Given the description of an element on the screen output the (x, y) to click on. 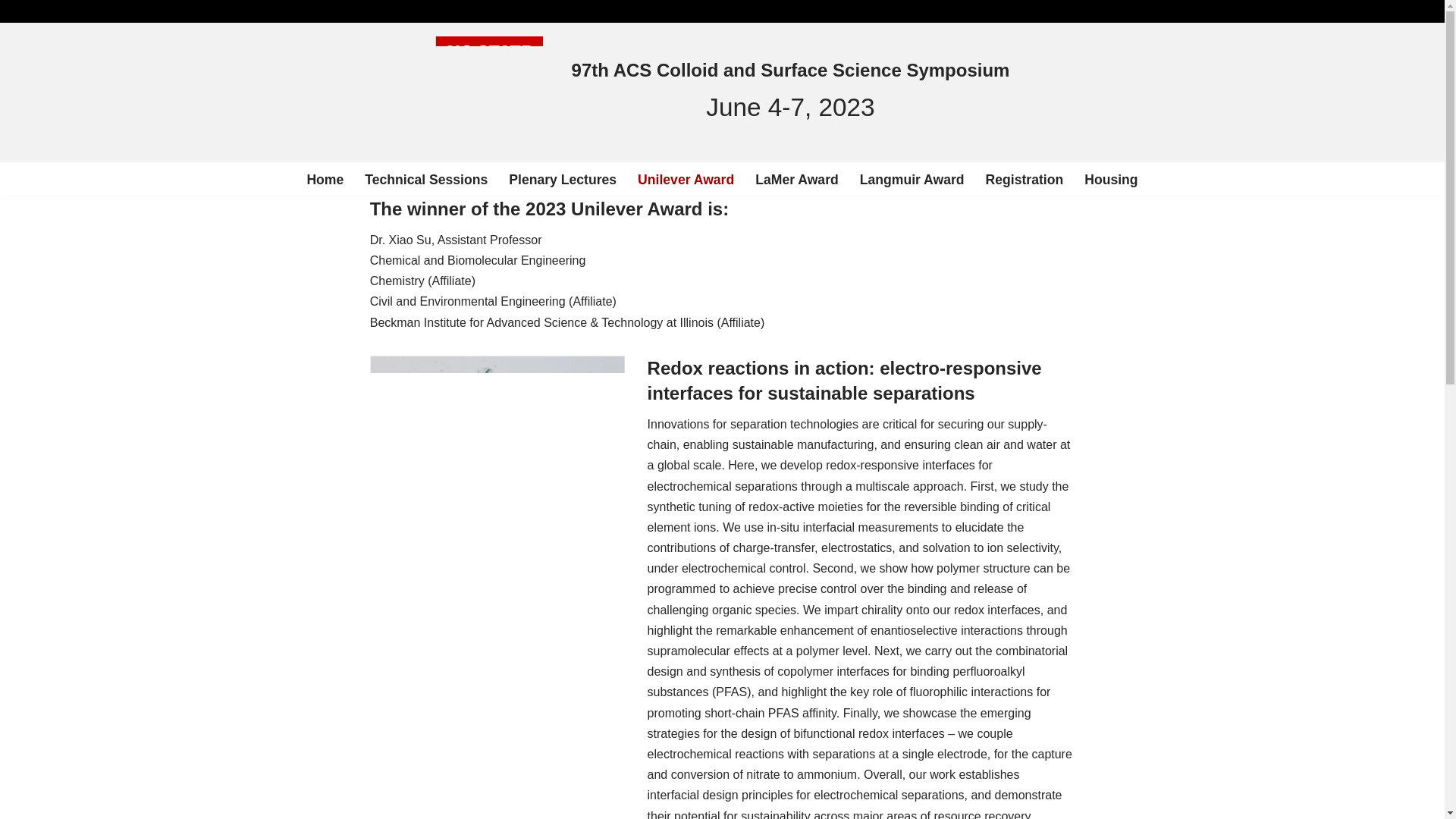
Housing (1110, 179)
Skip to content (11, 31)
Home (324, 179)
Registration (1024, 179)
Technical Sessions (426, 179)
Langmuir Award (911, 179)
Plenary Lectures (561, 179)
LaMer Award (796, 179)
Unilever Award (685, 179)
